Given the description of an element on the screen output the (x, y) to click on. 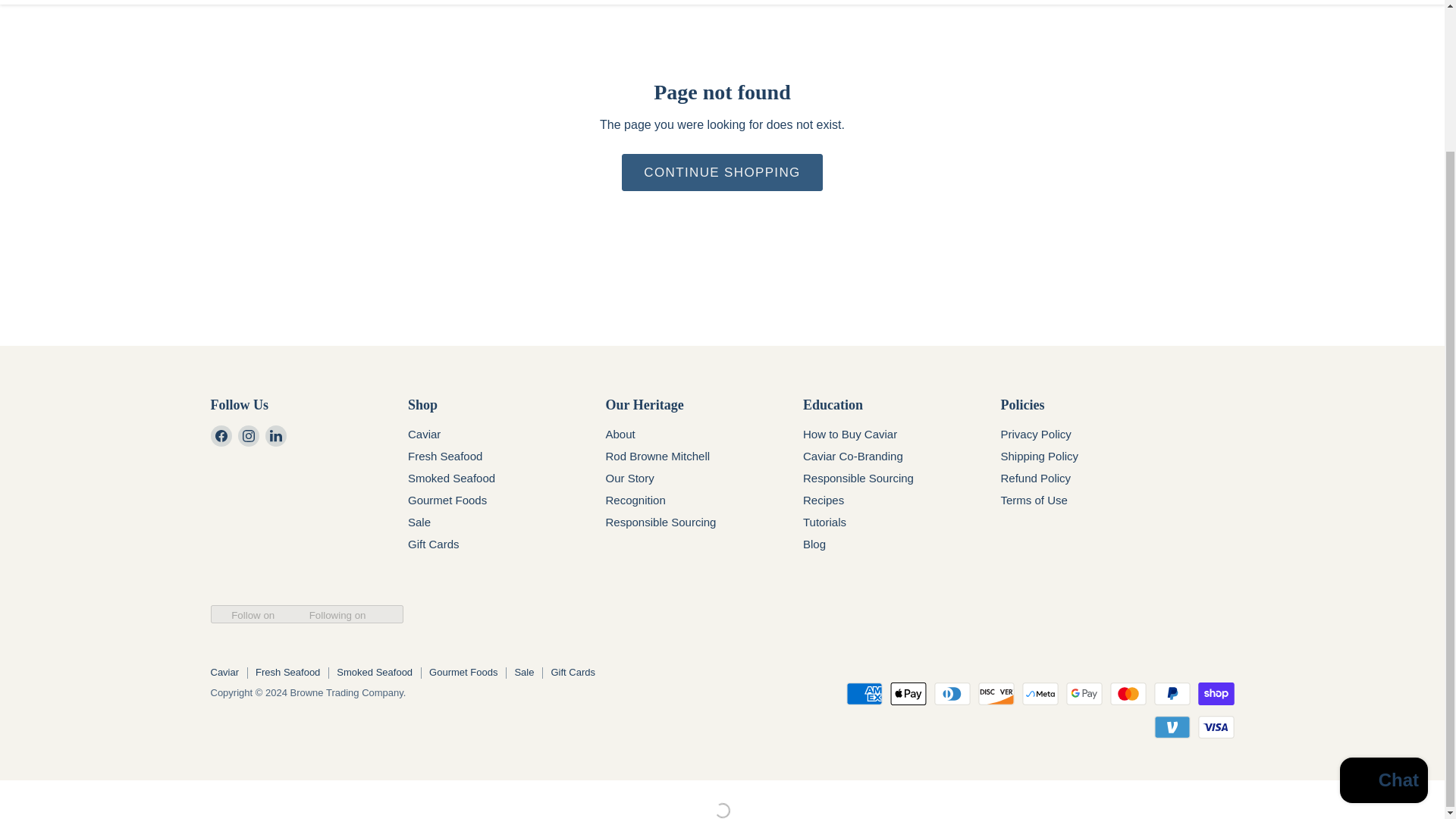
Mastercard (1128, 693)
American Express (863, 693)
LinkedIn (275, 435)
Meta Pay (1040, 693)
Facebook (221, 435)
Google Pay (1083, 693)
Discover (996, 693)
Shop Pay (1216, 693)
Apple Pay (907, 693)
Venmo (1172, 726)
